Given the description of an element on the screen output the (x, y) to click on. 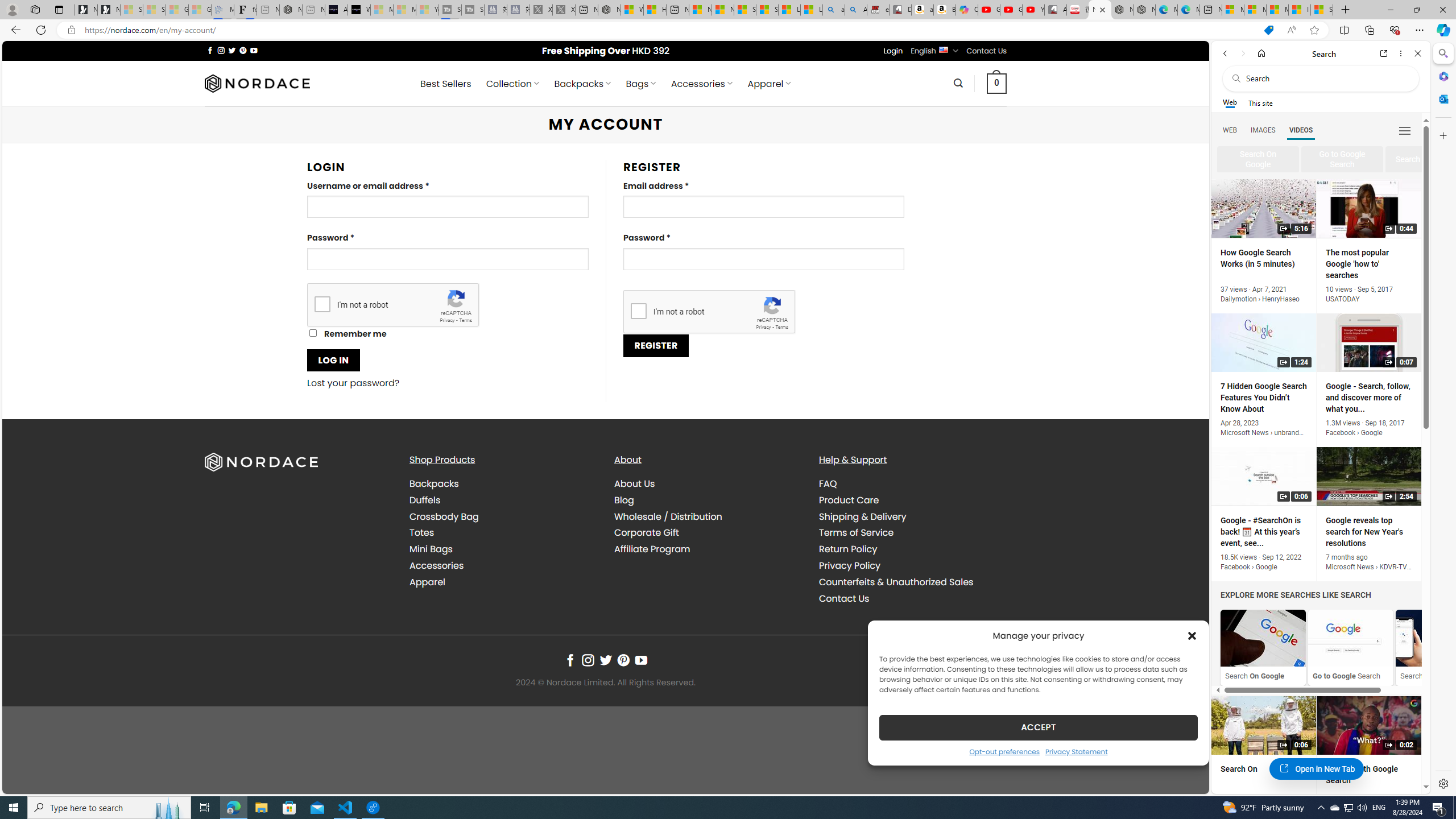
Side bar (1443, 418)
Class: b_serphb (1404, 130)
Customize (1442, 135)
Follow on Facebook (570, 659)
Duffels (425, 499)
Nordace - Nordace has arrived Hong Kong (1144, 9)
Crossbody Bag (444, 516)
  Best Sellers (445, 83)
